Given the description of an element on the screen output the (x, y) to click on. 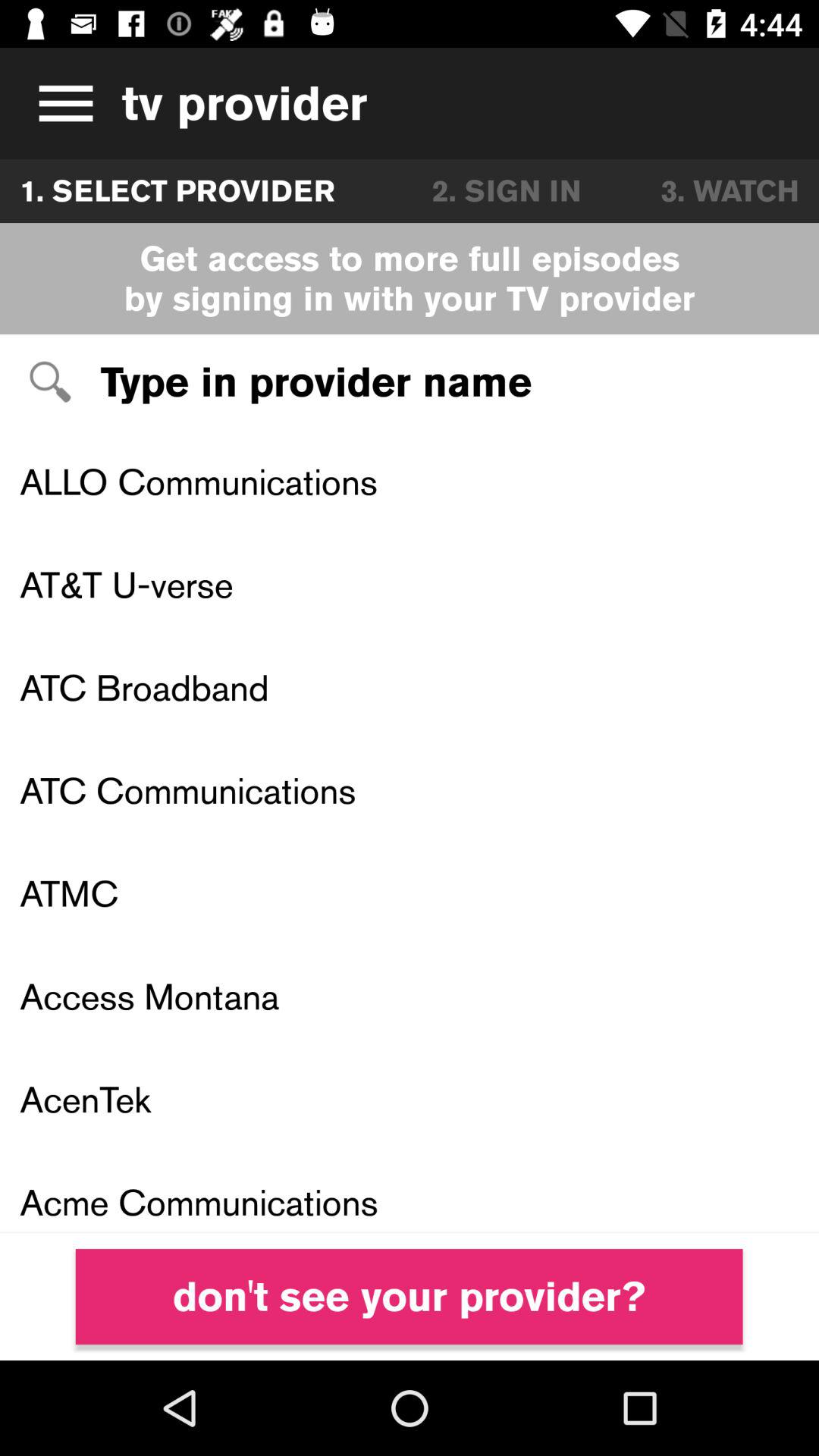
open menu (60, 103)
